Given the description of an element on the screen output the (x, y) to click on. 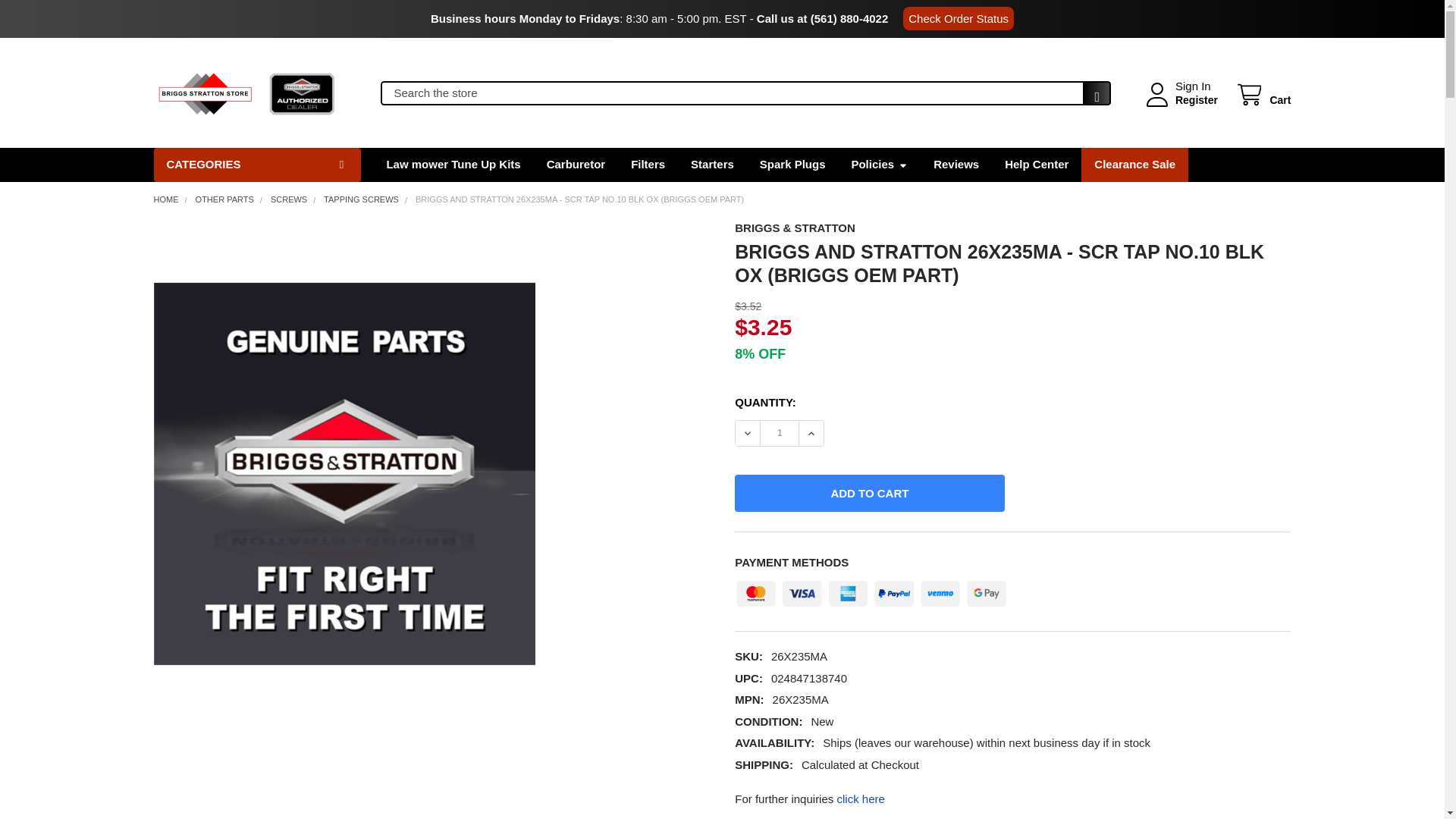
Sign In (1192, 86)
Search (1092, 97)
Cart (1262, 95)
Cart (1262, 95)
Search (1092, 97)
CATEGORIES (255, 164)
Register (1195, 100)
Payment Methods (871, 589)
Check Order Status (957, 18)
1 (778, 432)
